Given the description of an element on the screen output the (x, y) to click on. 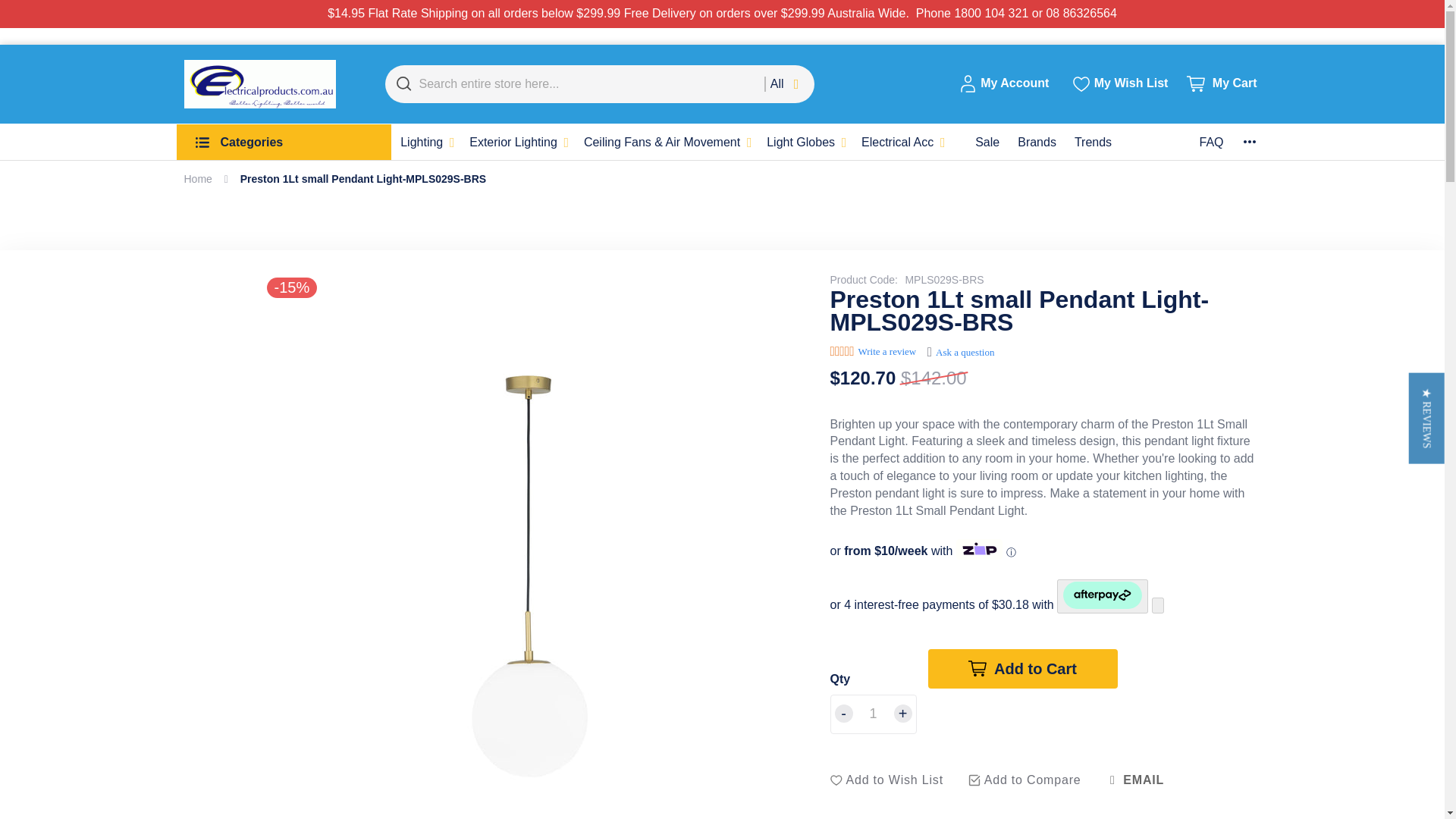
Qty (872, 714)
Categories (283, 141)
PayPal Message 1 (1023, 734)
My Wish List (1119, 82)
My Cart (1223, 84)
PayPal (1023, 704)
All (788, 83)
My Wish List (1119, 82)
My Account (1004, 84)
1 (872, 714)
Go to Home Page (197, 178)
Add to Cart (1023, 668)
My Account (1004, 84)
